Given the description of an element on the screen output the (x, y) to click on. 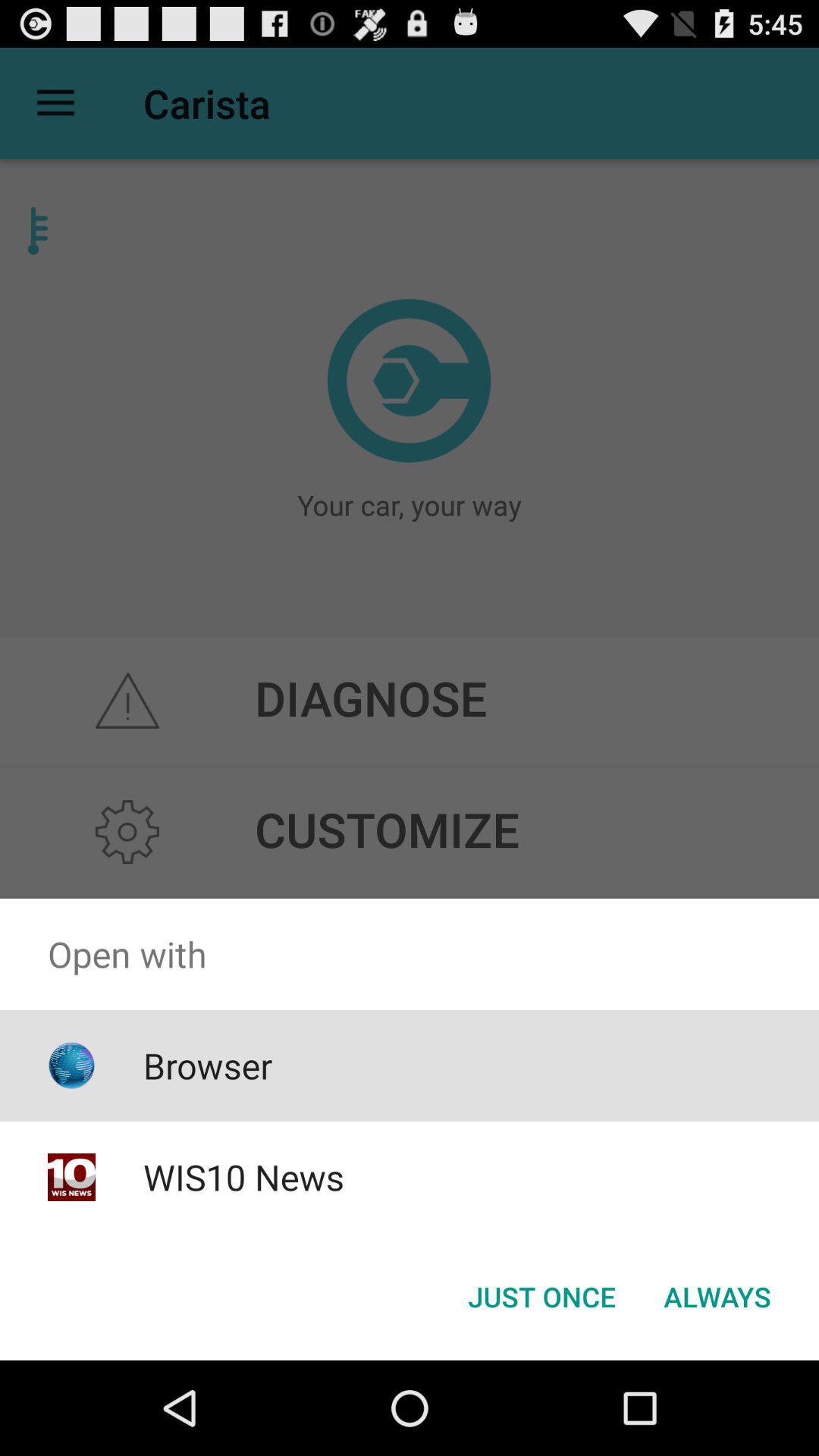
choose the wis10 news item (243, 1176)
